Given the description of an element on the screen output the (x, y) to click on. 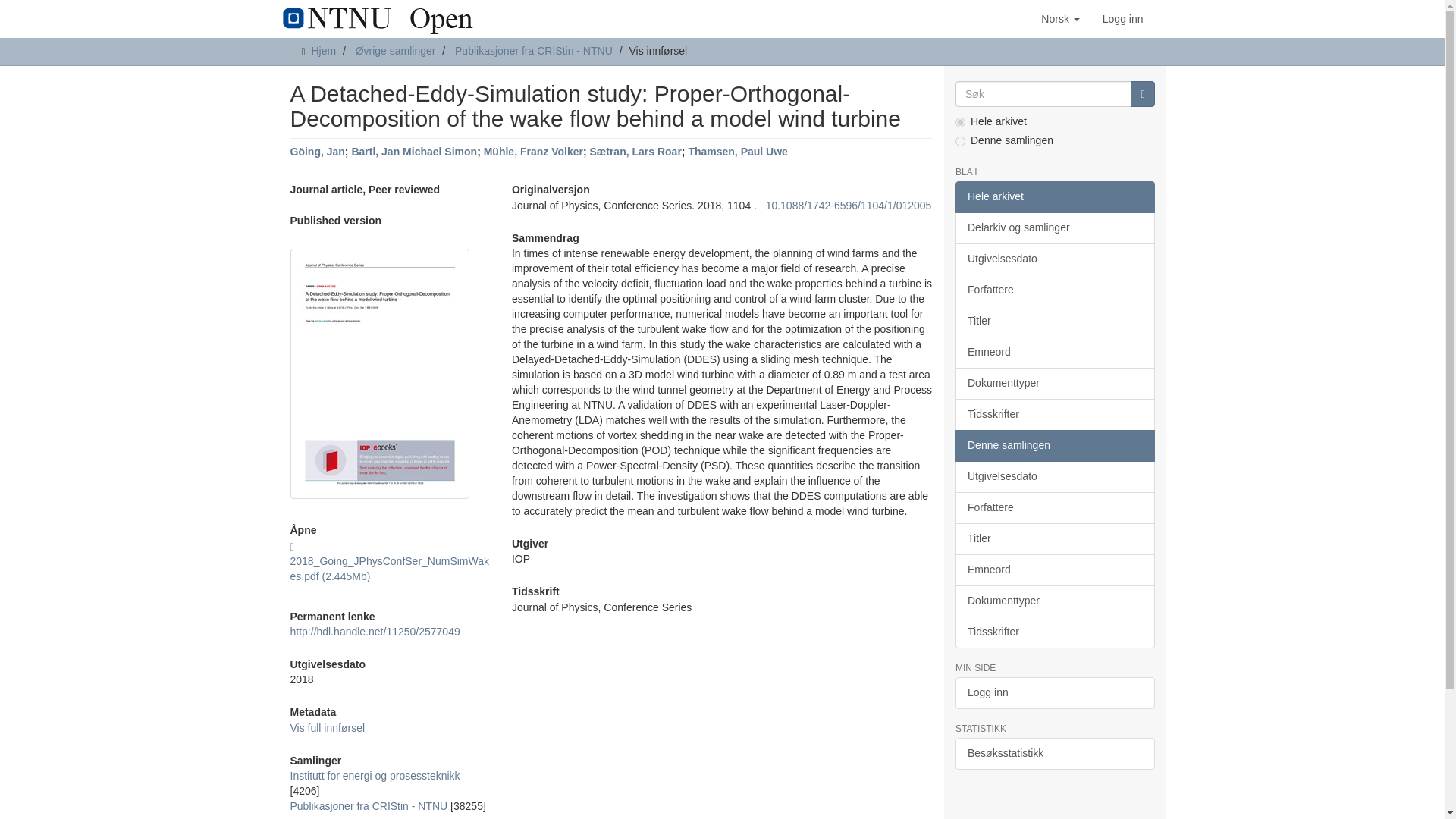
Bartl, Jan Michael Simon (413, 151)
Institutt for energi og prosessteknikk (374, 775)
Thamsen, Paul Uwe (737, 151)
Hele arkivet (1054, 196)
Publikasjoner fra CRIStin - NTNU (533, 50)
Logg inn (1122, 18)
Publikasjoner fra CRIStin - NTNU (367, 806)
Hjem (323, 50)
Norsk  (1059, 18)
